Given the description of an element on the screen output the (x, y) to click on. 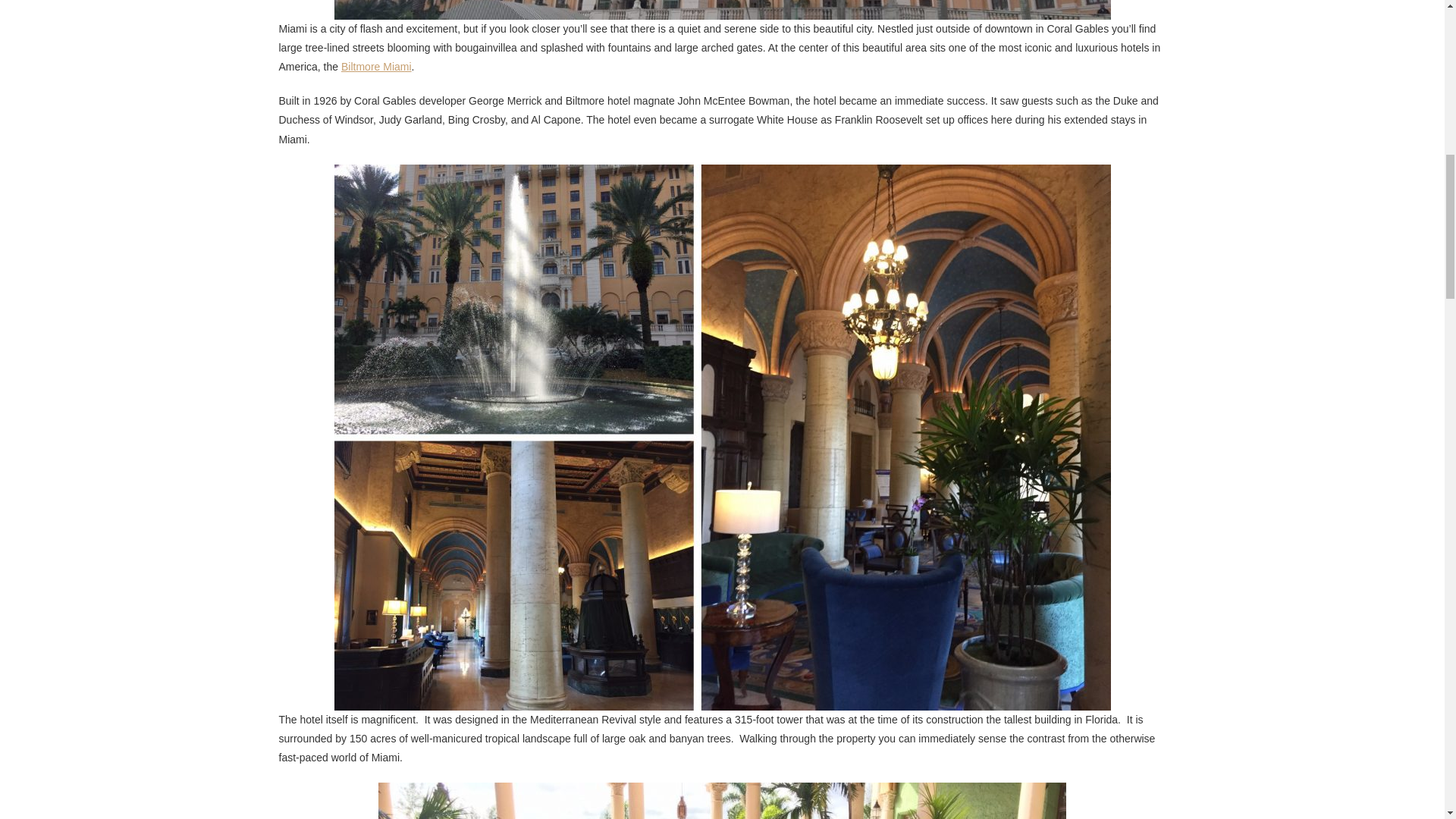
Biltmore Miami (376, 66)
